Given the description of an element on the screen output the (x, y) to click on. 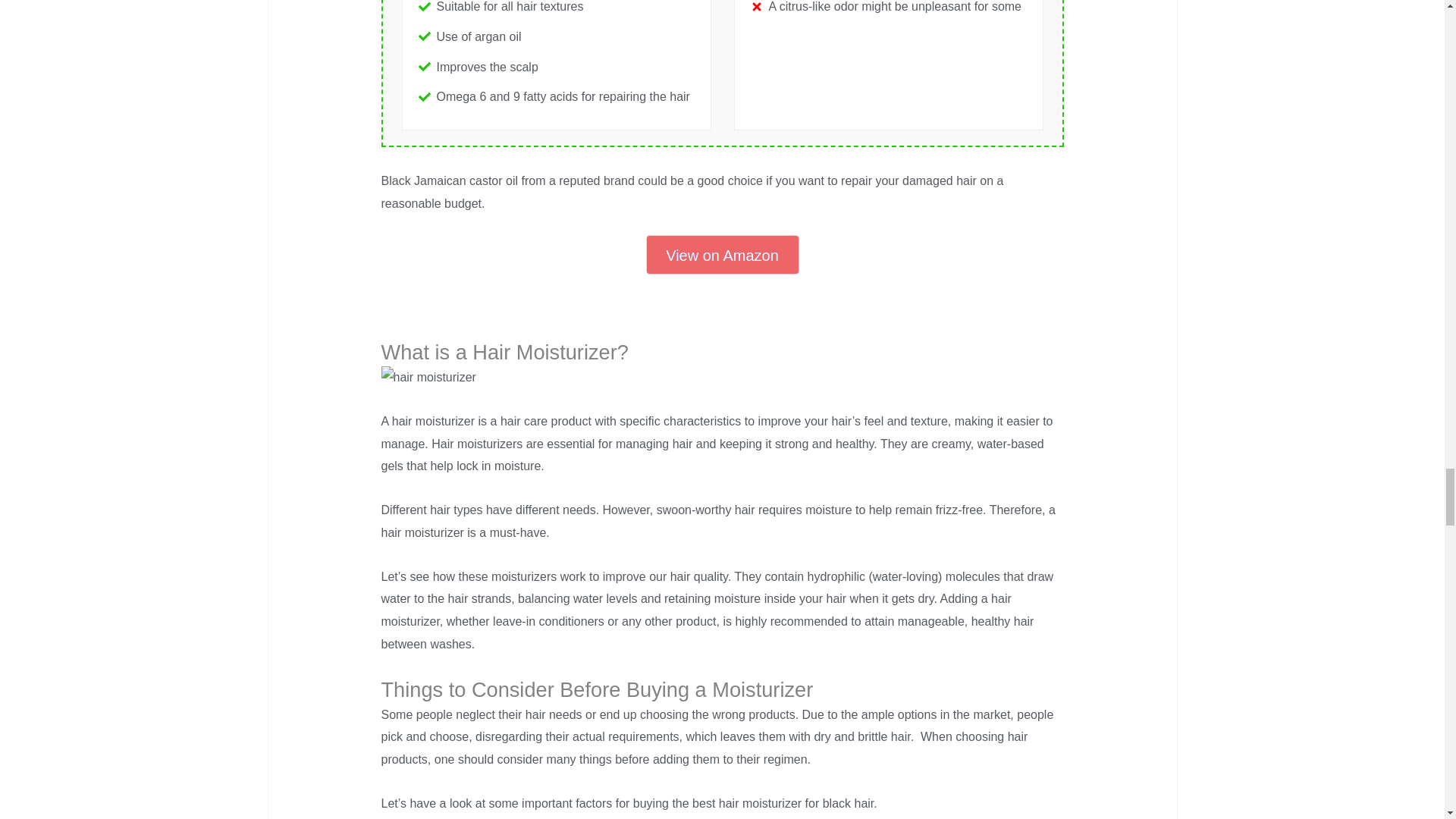
View on Amazon (721, 254)
